Given the description of an element on the screen output the (x, y) to click on. 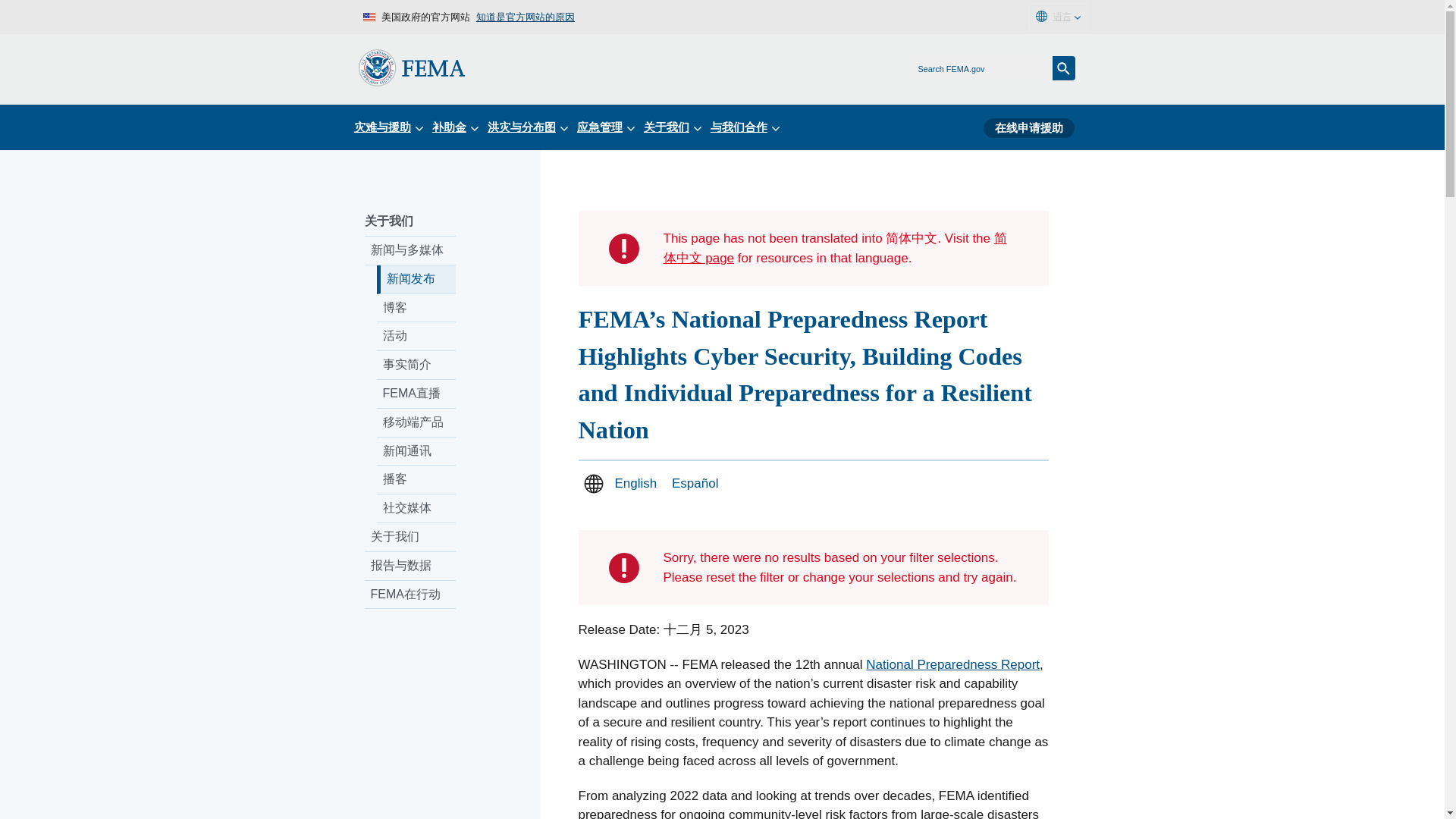
Search FEMA.gov (1063, 68)
FEMA logo (411, 67)
Search FEMA.gov (1063, 68)
English (635, 482)
National Preparedness Report (952, 663)
